Given the description of an element on the screen output the (x, y) to click on. 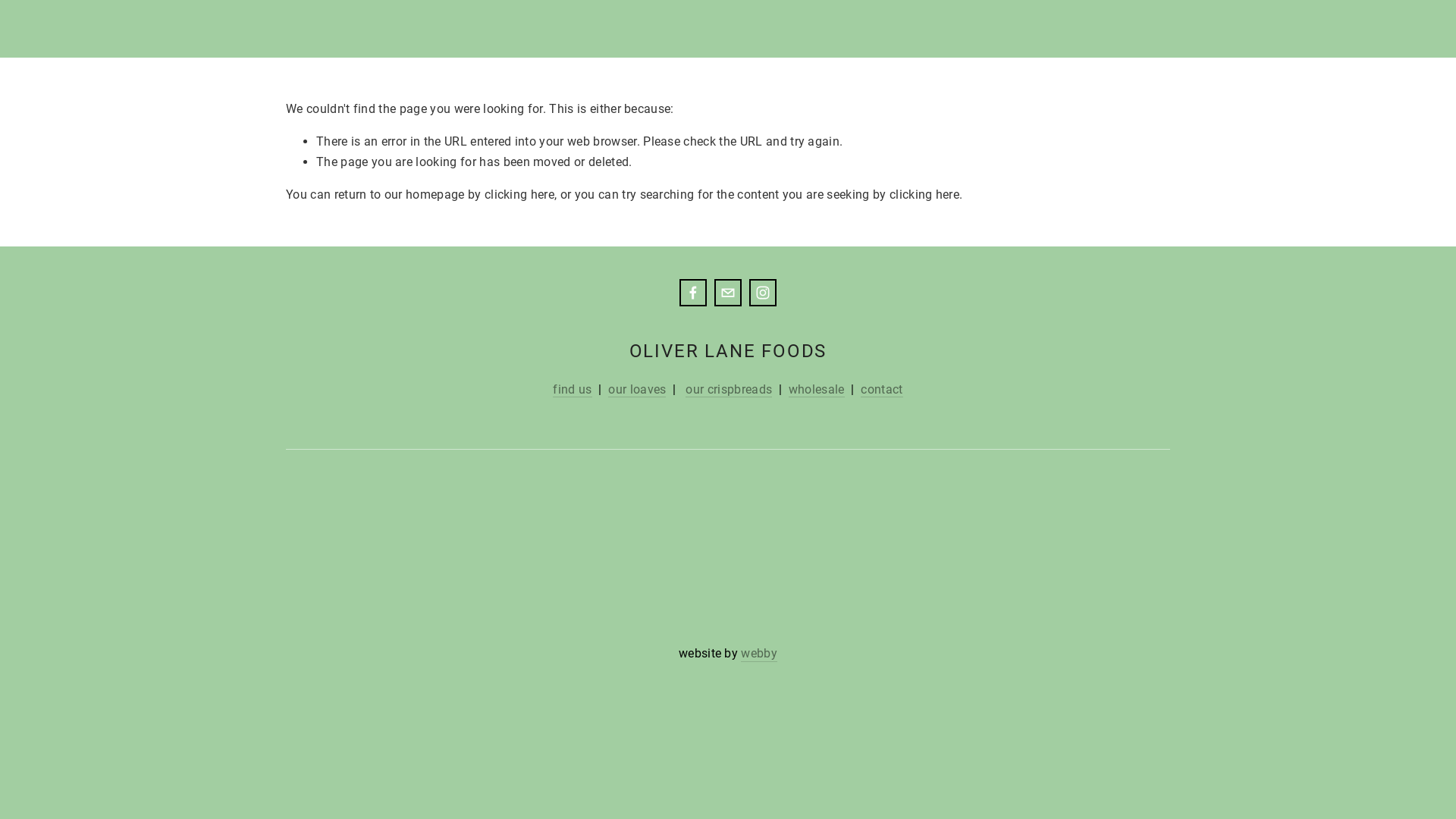
find us Element type: text (571, 390)
our crispbreads Element type: text (728, 390)
our loaves Element type: text (636, 390)
webby Element type: text (758, 654)
wholesale Element type: text (816, 390)
Sign Up Element type: text (1016, 585)
clicking here Element type: text (924, 194)
clicking here Element type: text (519, 194)
contact Element type: text (881, 390)
